Given the description of an element on the screen output the (x, y) to click on. 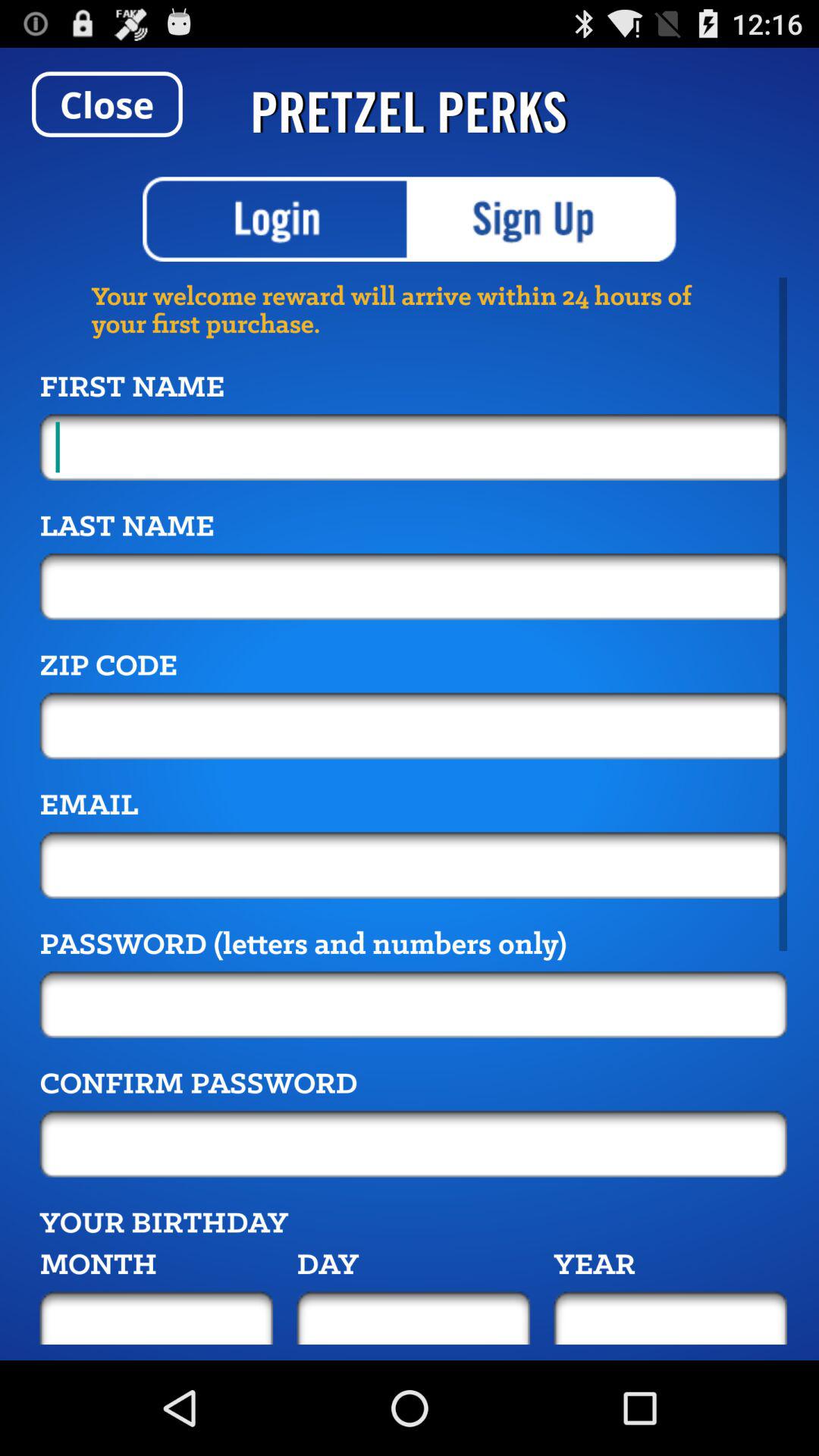
sign up (543, 218)
